Given the description of an element on the screen output the (x, y) to click on. 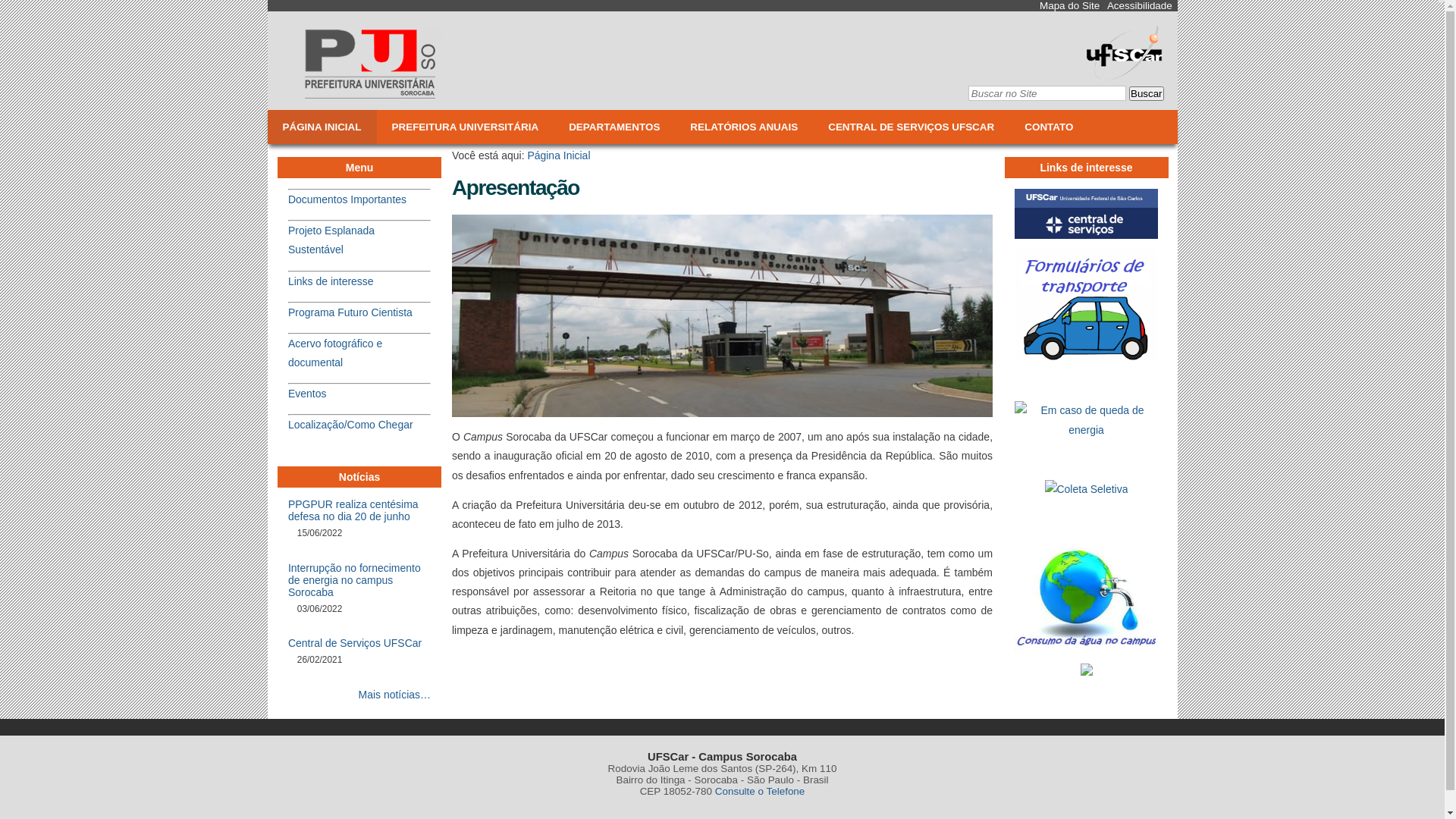
Acessibilidade Element type: text (1139, 5)
Buscar no Site Element type: hover (1046, 92)
CONTATO Element type: text (1048, 126)
Documentos Importantes Element type: text (347, 199)
Transporte Element type: hover (1085, 354)
Coleta seletiva 2 Element type: hover (1086, 489)
  Element type: text (407, 199)
Em caso de queda de energia Element type: hover (1085, 420)
Queda de energia Element type: hover (1085, 433)
DEPARTAMENTOS Element type: text (613, 126)
Eventos Element type: text (307, 393)
Buscar Element type: text (1146, 93)
Portal UFSCar Element type: hover (1123, 74)
Mapa do Site Element type: text (1069, 5)
banner apresentacao Element type: hover (721, 315)
Consulte o Telefone Element type: text (760, 791)
Links de interesse Element type: text (330, 281)
Programa Futuro Cientista Element type: text (350, 312)
Coleta Seletiva Element type: hover (1086, 492)
